Given the description of an element on the screen output the (x, y) to click on. 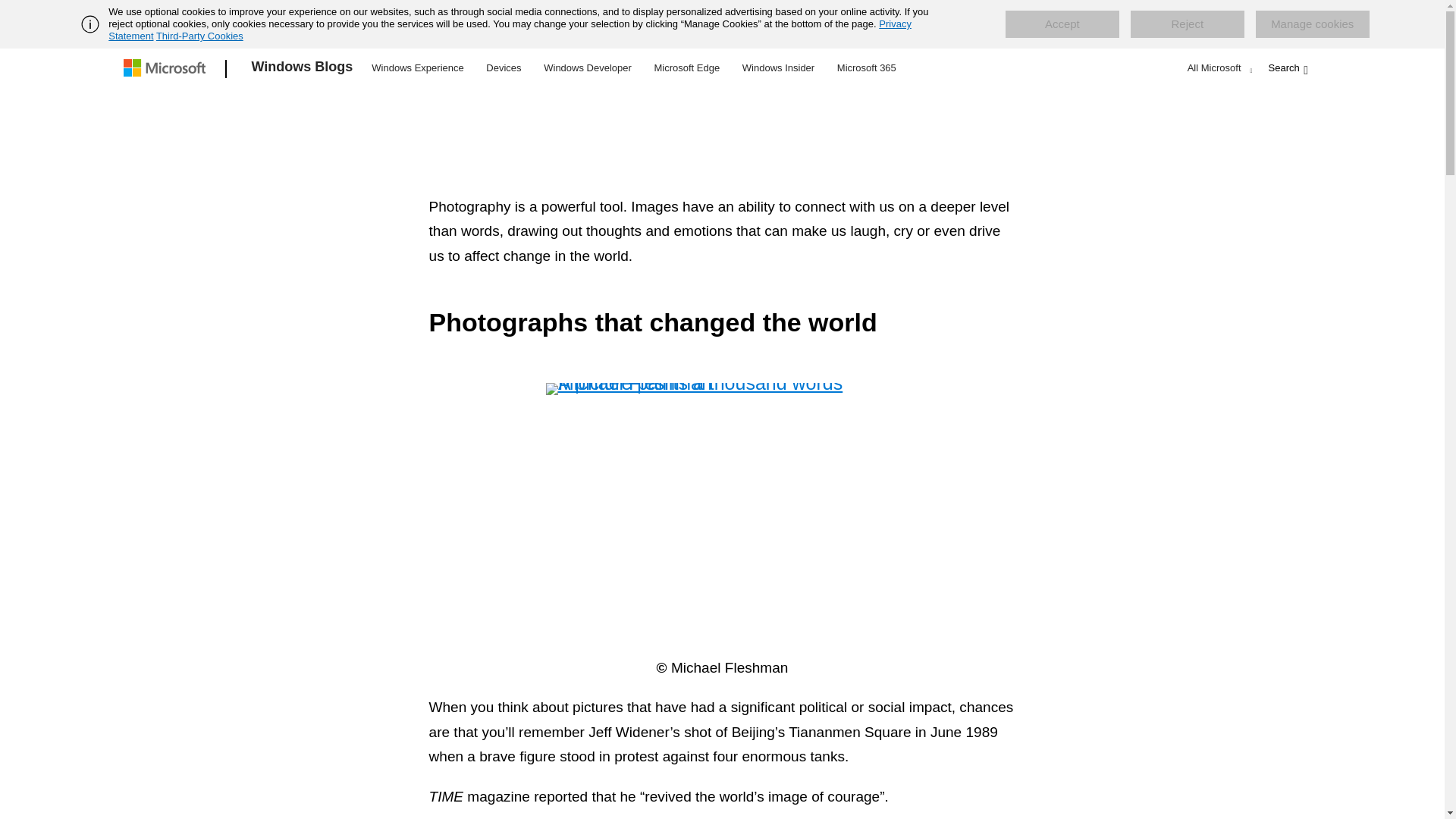
Microsoft 365 (865, 67)
Windows Experience (417, 67)
Windows Developer (588, 67)
Manage cookies (1312, 23)
Privacy Statement (509, 29)
All Microsoft (1217, 67)
Microsoft Edge (686, 67)
Windows Insider (778, 67)
Reject (1187, 23)
Devices (503, 67)
Microsoft (167, 69)
Accept (1062, 23)
Windows Blogs (302, 69)
Third-Party Cookies (199, 35)
